Given the description of an element on the screen output the (x, y) to click on. 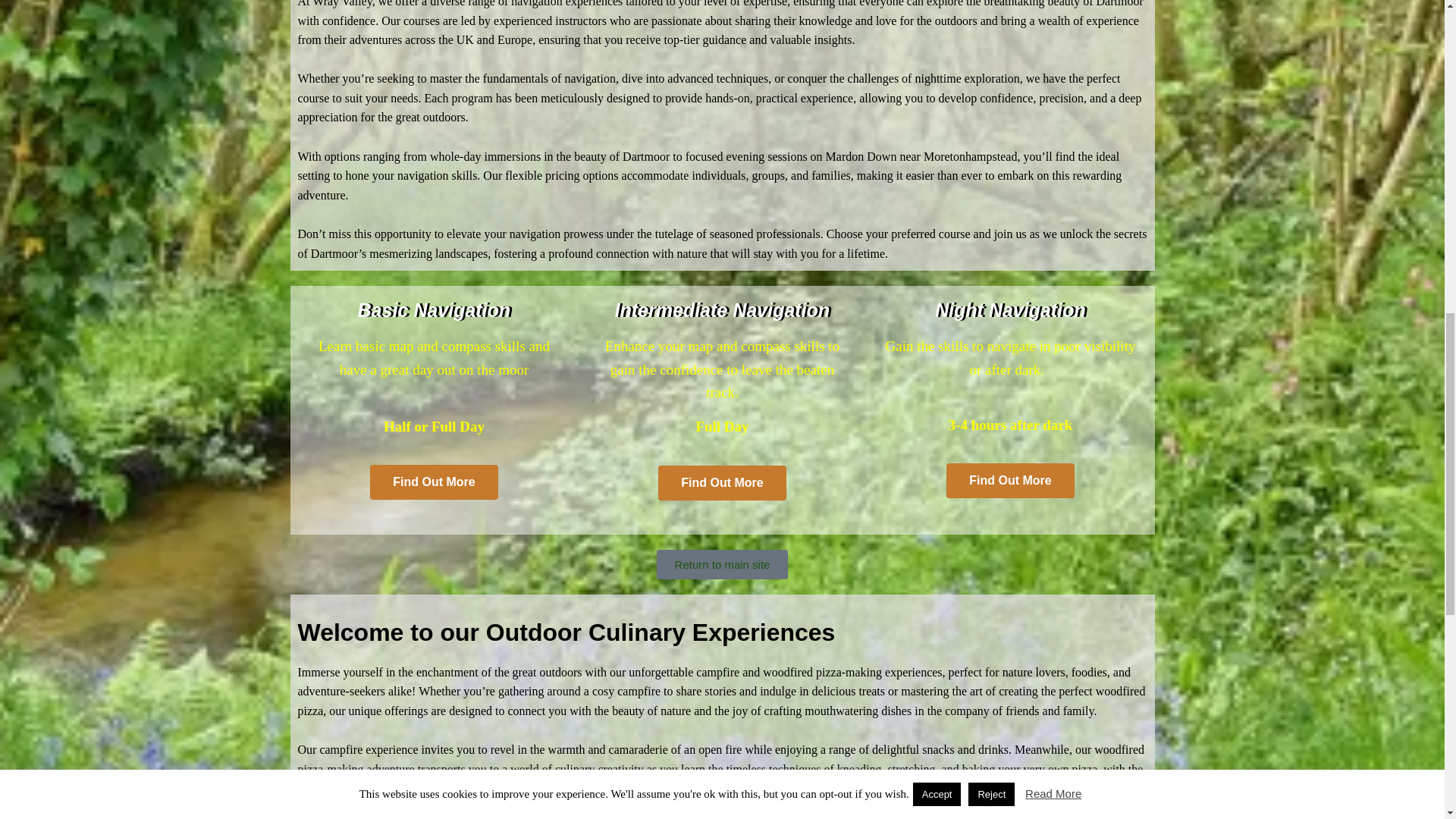
Find Out More (1010, 480)
Return to main site (722, 564)
Find Out More (722, 483)
Find Out More (433, 482)
